Given the description of an element on the screen output the (x, y) to click on. 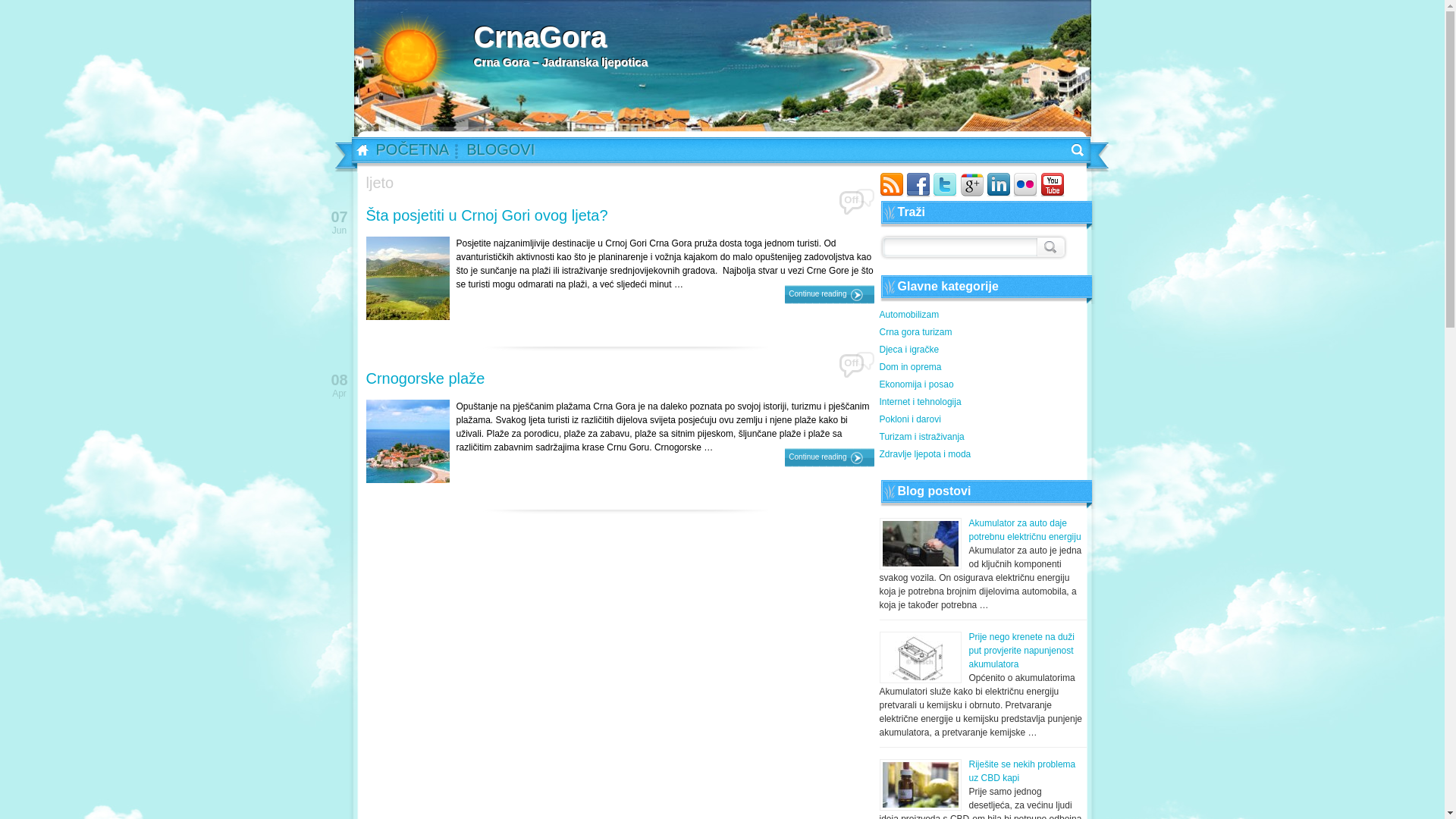
Crna gora turizam Element type: text (982, 333)
Automobilizam Element type: text (982, 316)
BLOGOVI Element type: text (503, 153)
Ekonomija i posao Element type: text (982, 386)
CrnaGora Element type: text (559, 36)
Home Element type: text (357, 150)
Continue reading Element type: text (828, 294)
Continue reading Element type: text (828, 457)
Pokloni i darovi Element type: text (982, 420)
Dom in oprema Element type: text (982, 368)
Zdravlje ljepota i moda Element type: text (982, 455)
Internet i tehnologija Element type: text (982, 403)
Search Element type: text (1048, 244)
